Given the description of an element on the screen output the (x, y) to click on. 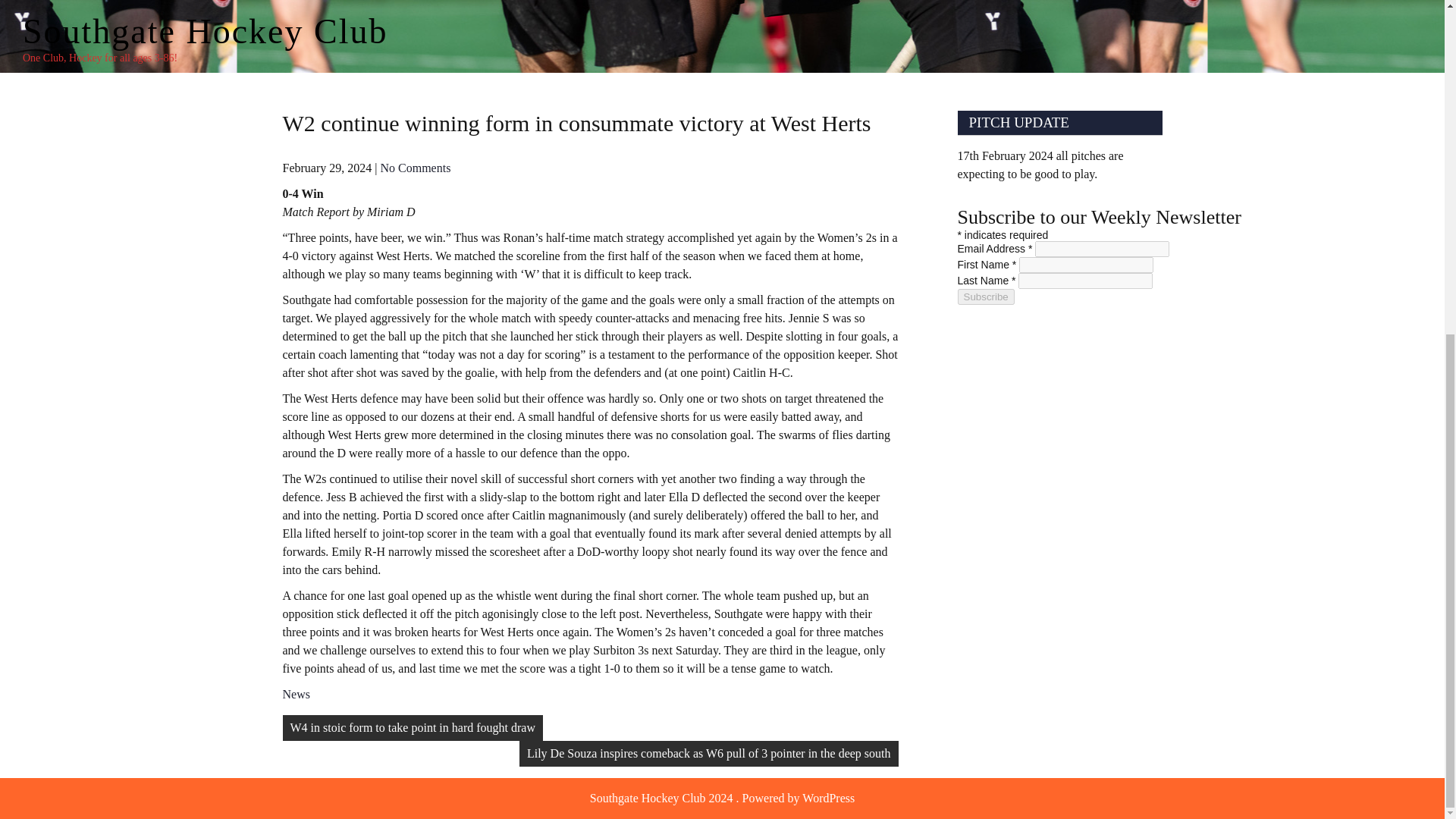
W4 in stoic form to take point in hard fought draw (411, 727)
No Comments (414, 167)
Subscribe (984, 296)
Southgate Hockey Club (205, 31)
News (295, 694)
